Given the description of an element on the screen output the (x, y) to click on. 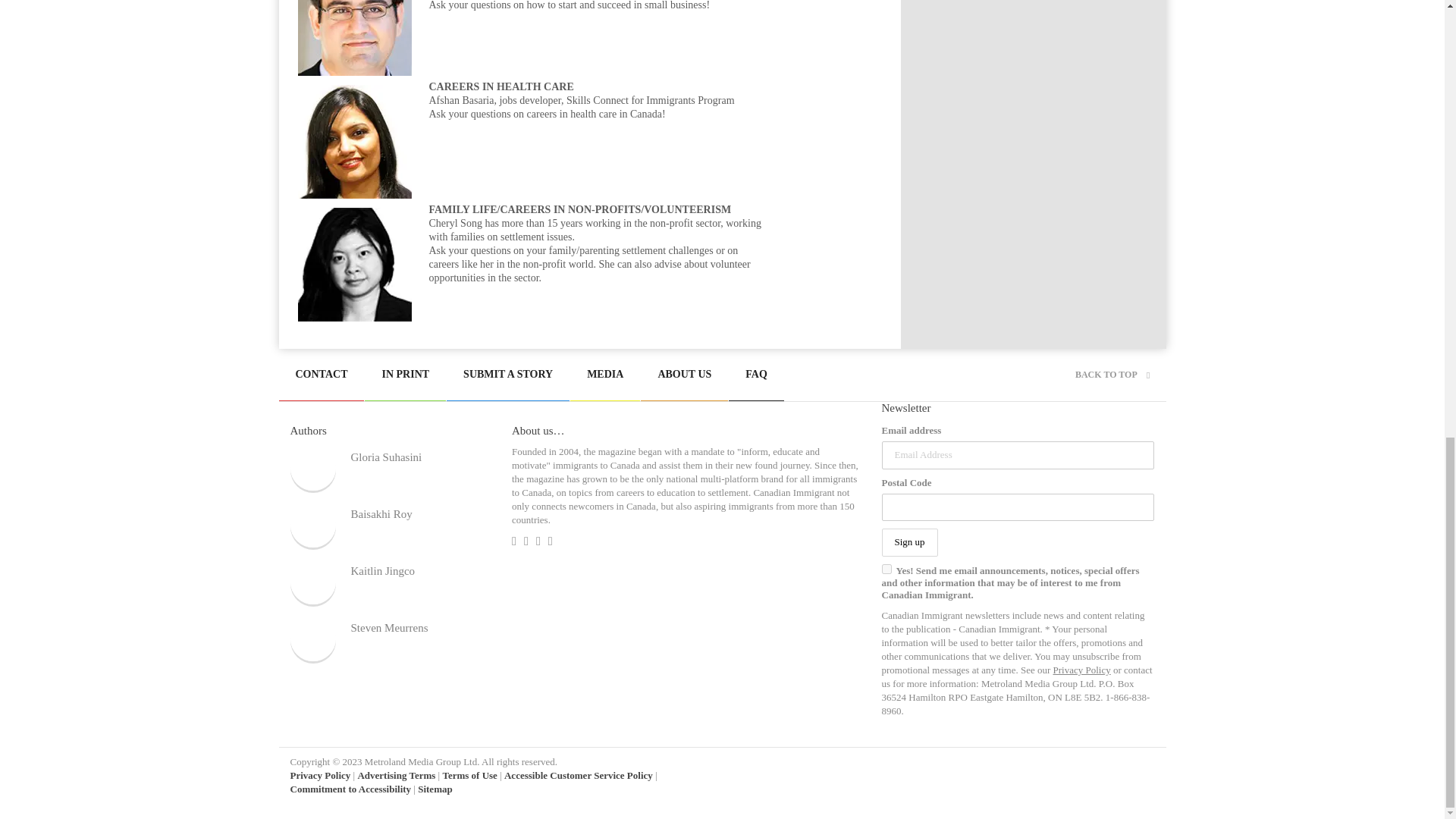
BACK TO TOP (1112, 374)
Sign up (908, 542)
1 (885, 569)
